Given the description of an element on the screen output the (x, y) to click on. 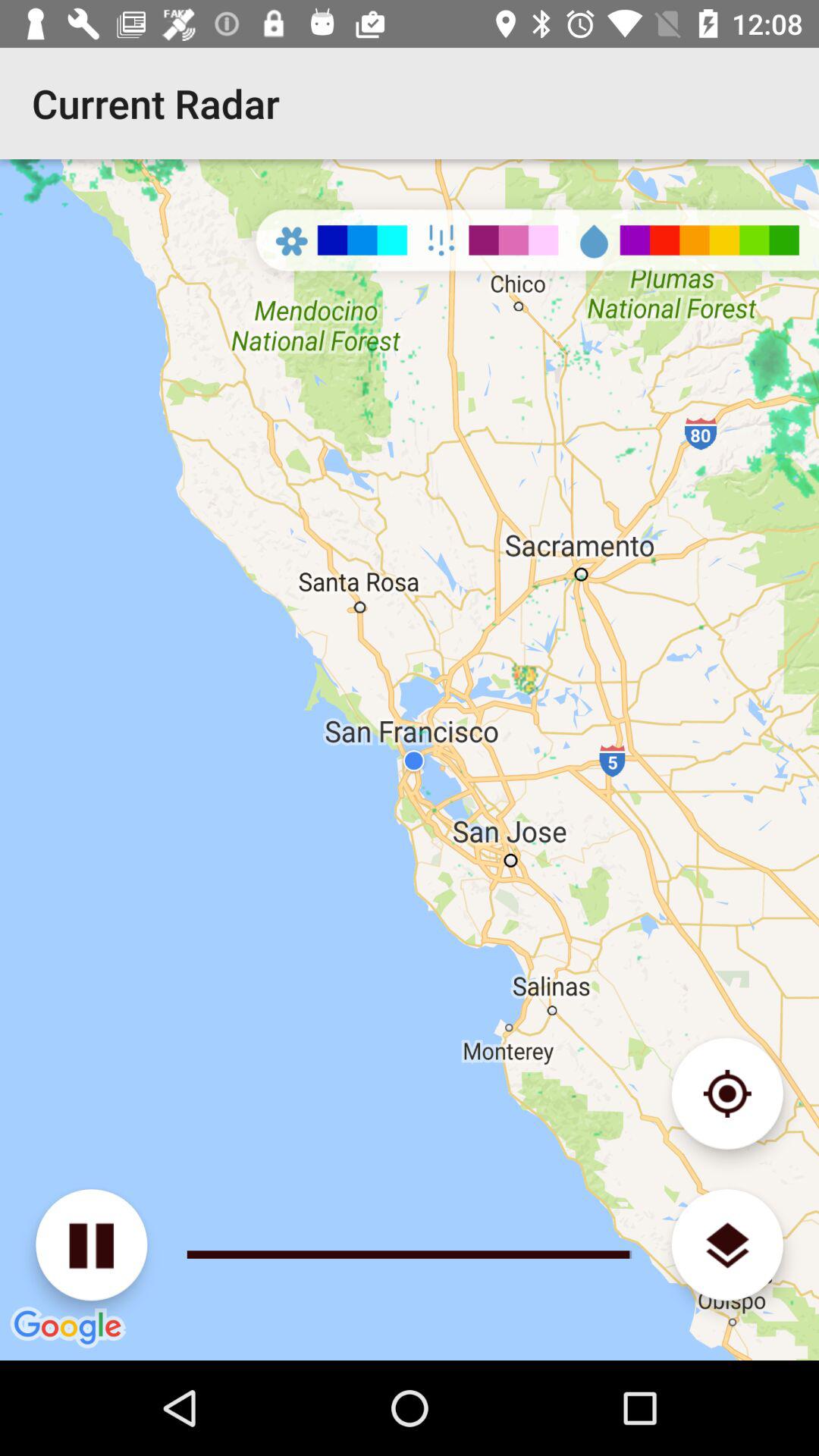
switch map layer (727, 1244)
